Given the description of an element on the screen output the (x, y) to click on. 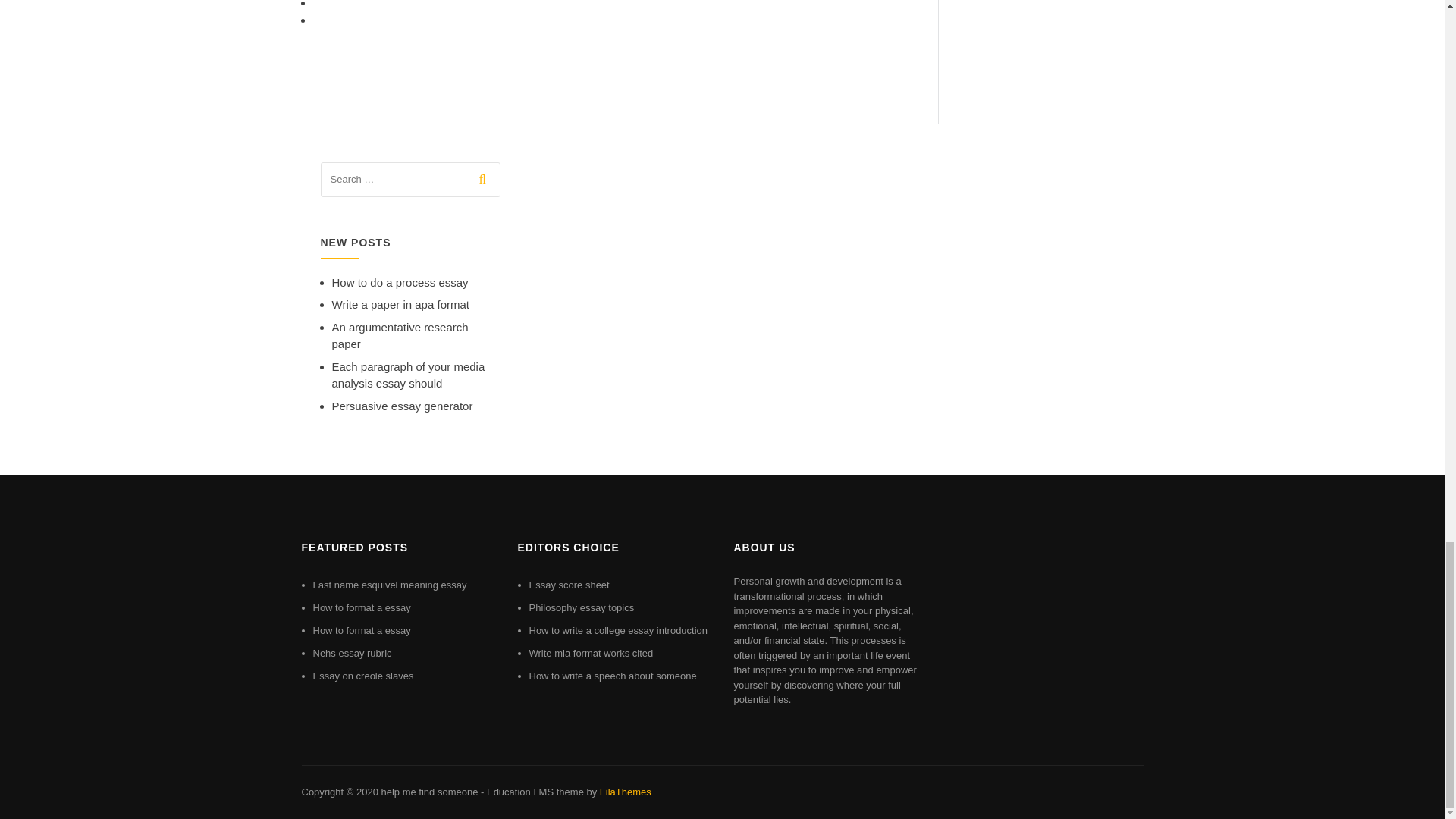
How to do a process essay (399, 282)
Last name esquivel meaning essay (389, 584)
Each paragraph of your media analysis essay should (407, 375)
How to format a essay (361, 607)
An argumentative research paper (399, 336)
How to write a college essay introduction (618, 630)
Nehs essay rubric (352, 653)
Essay score sheet (569, 584)
Write mla format works cited (591, 653)
help me find someone (428, 791)
help me find someone (428, 791)
Philosophy essay topics (581, 607)
Essay on creole slaves (363, 675)
How to write a speech about someone (613, 675)
Write a paper in apa format (399, 304)
